Given the description of an element on the screen output the (x, y) to click on. 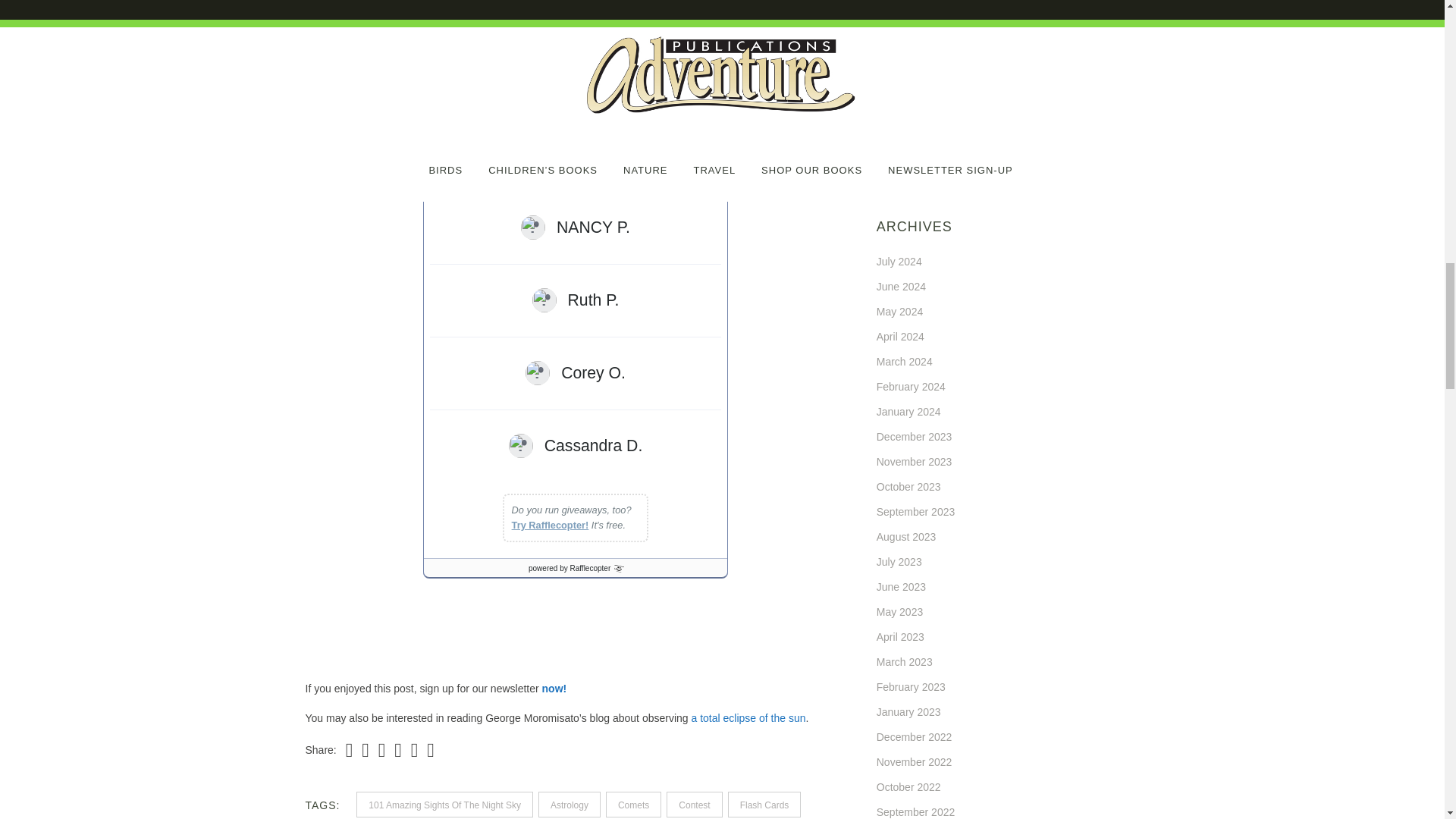
Flash Cards (765, 804)
Contest (694, 804)
a total eclipse of the sun (747, 717)
Astrology (568, 804)
now! (554, 688)
101 Amazing Sights Of The Night Sky (444, 804)
Comets (633, 804)
